Given the description of an element on the screen output the (x, y) to click on. 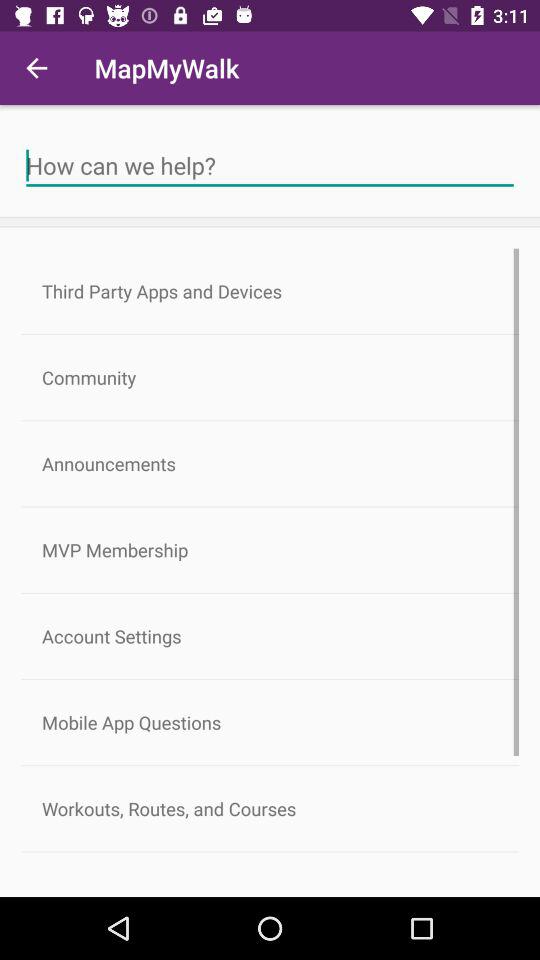
click icon above community item (269, 291)
